Given the description of an element on the screen output the (x, y) to click on. 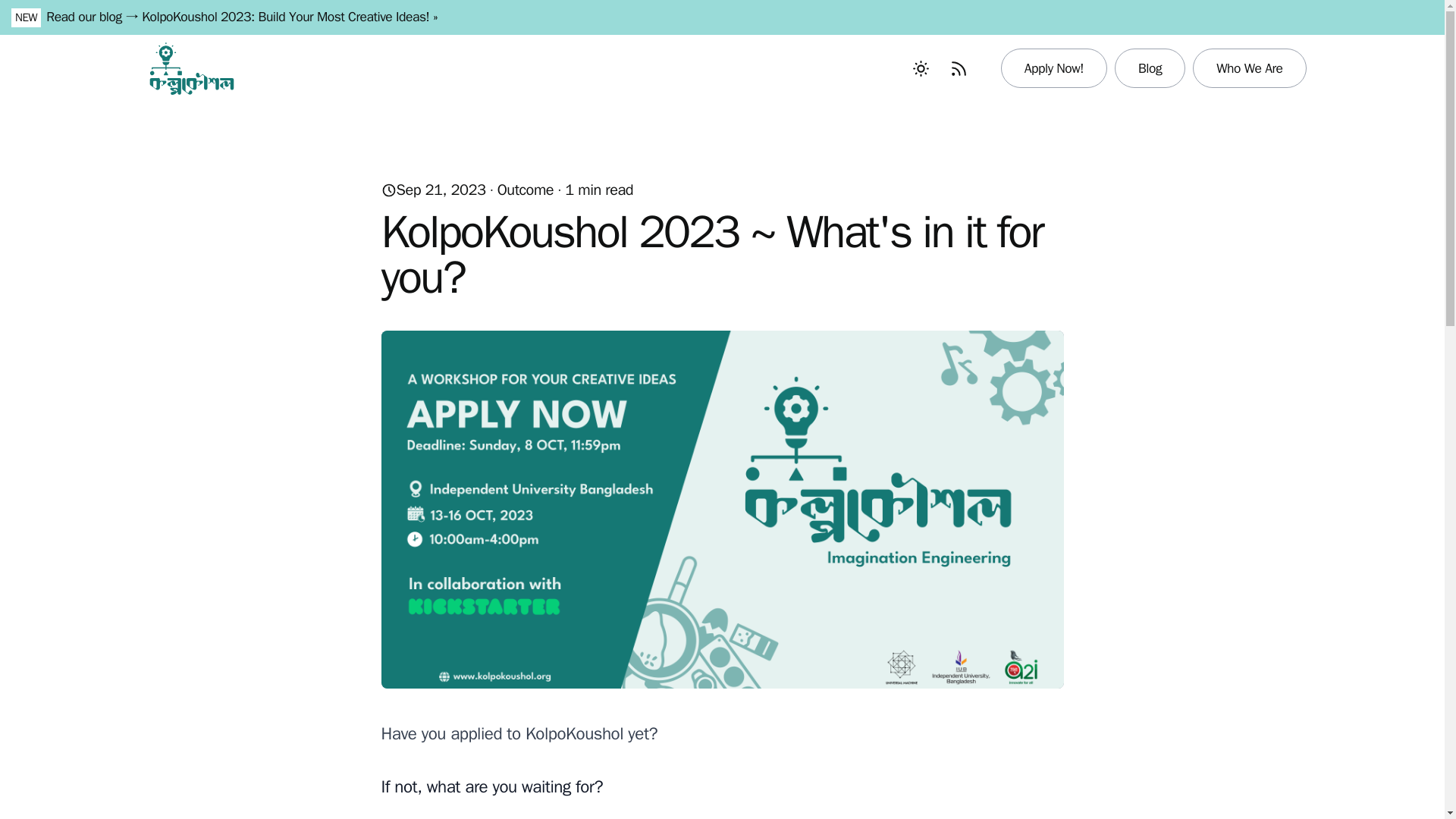
Who We Are (1249, 67)
Outcome (525, 190)
Blog (1150, 67)
Apply Now! (1053, 67)
